Given the description of an element on the screen output the (x, y) to click on. 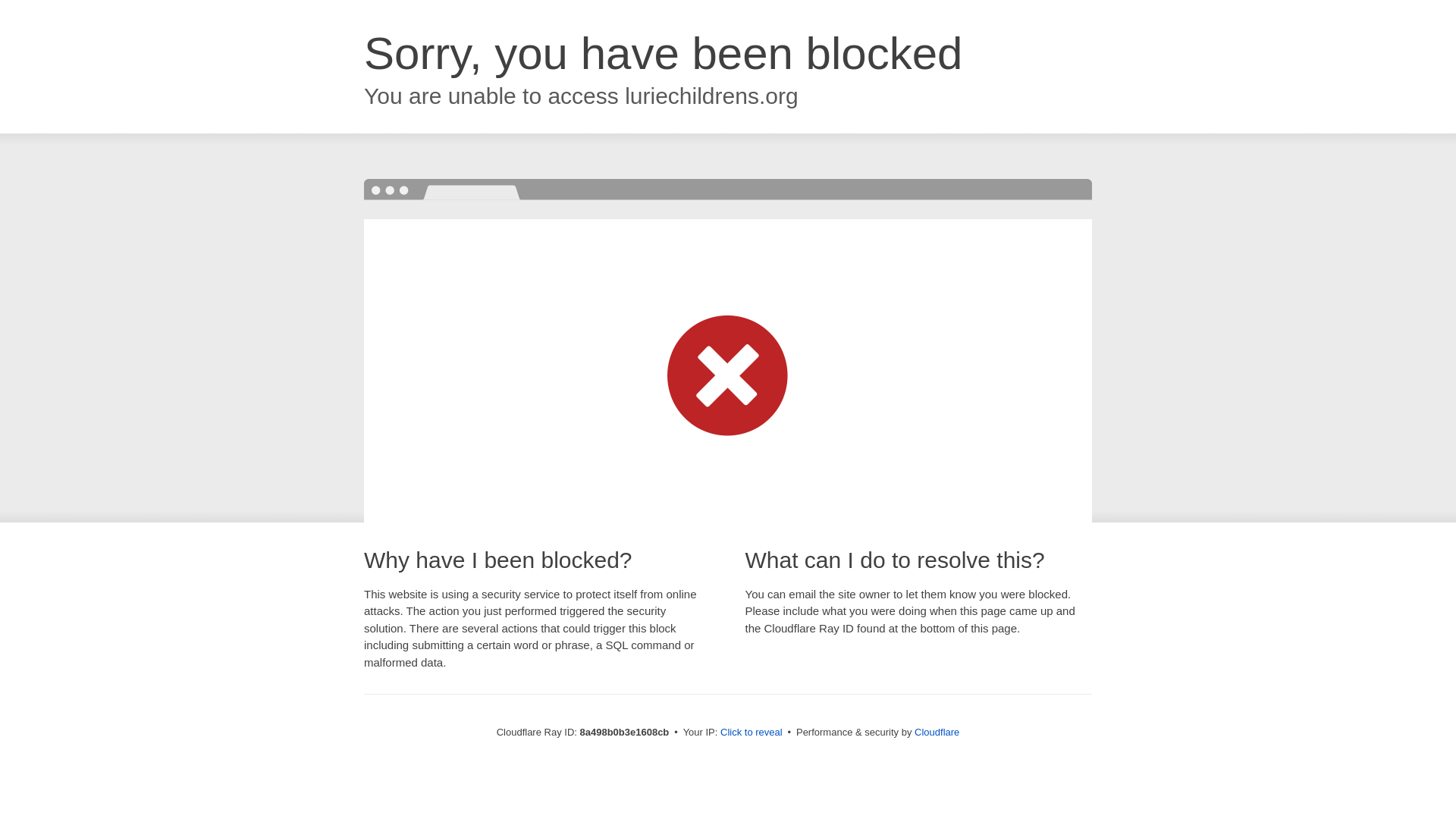
Click to reveal (751, 732)
Cloudflare (936, 731)
